Given the description of an element on the screen output the (x, y) to click on. 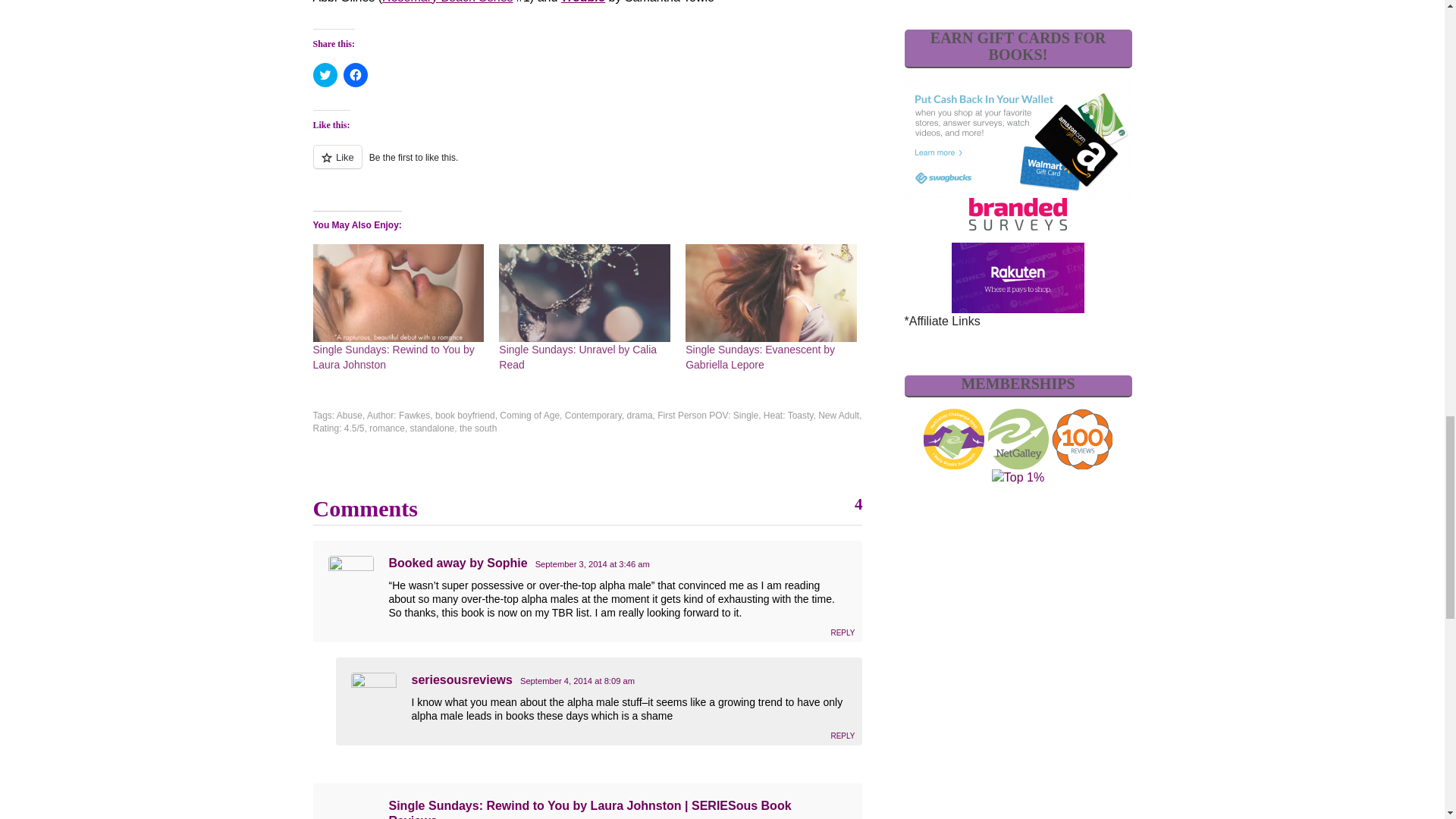
Single Sundays: Unravel by Calia Read (577, 357)
Contemporary (592, 415)
Single Sundays: Evanescent by Gabriella Lepore (759, 357)
Trouble (582, 2)
Abuse (349, 415)
Single Sundays: Rewind to You by Laura Johnston (393, 357)
Click to share on Twitter (324, 74)
Author: Fawkes (397, 415)
Single Sundays: Evanescent by Gabriella Lepore (759, 357)
the south (478, 428)
standalone (432, 428)
First Person POV: Single (708, 415)
romance (386, 428)
Single Sundays: Evanescent by Gabriella Lepore (771, 293)
Single Sundays: Rewind to You by Laura Johnston (393, 357)
